Given the description of an element on the screen output the (x, y) to click on. 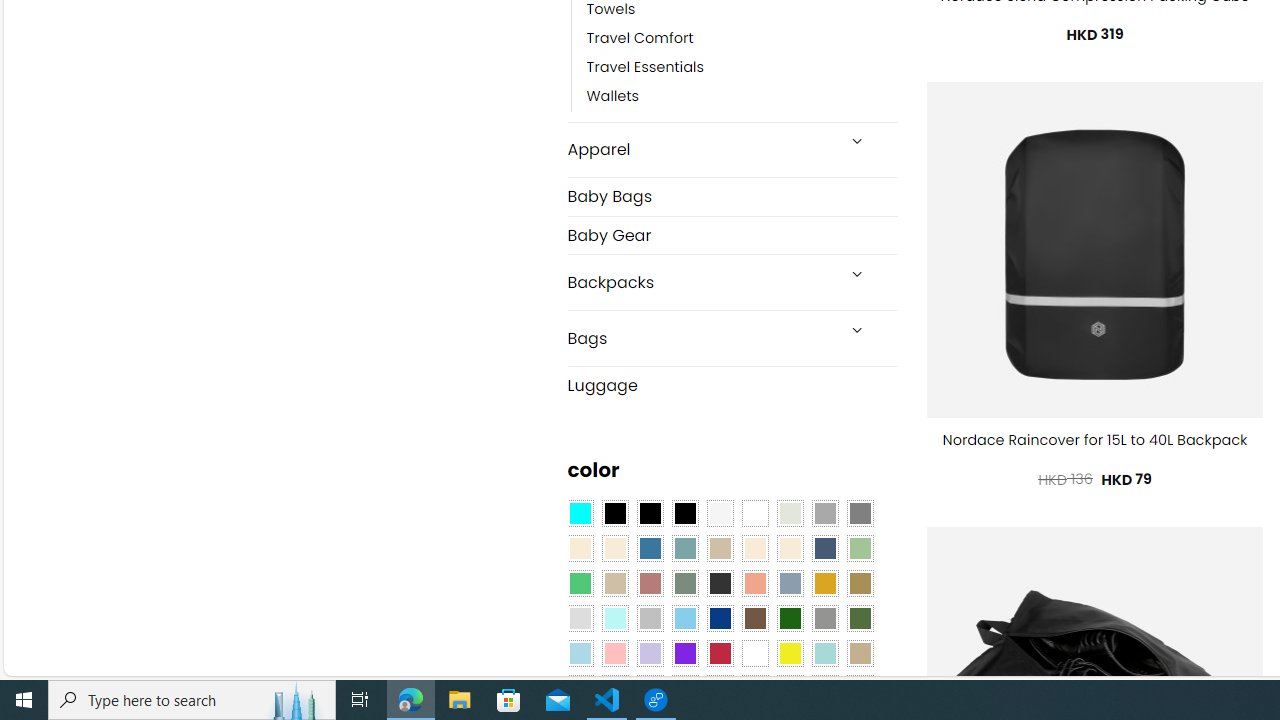
Sage (684, 583)
Brown (755, 619)
Beige-Brown (614, 548)
Luggage (732, 384)
Green (859, 619)
Gold (824, 583)
Pink (614, 653)
Khaki (859, 653)
Kelp (859, 583)
Luggage (732, 384)
Pearly White (719, 514)
Yellow (789, 653)
Aqua (824, 653)
